Given the description of an element on the screen output the (x, y) to click on. 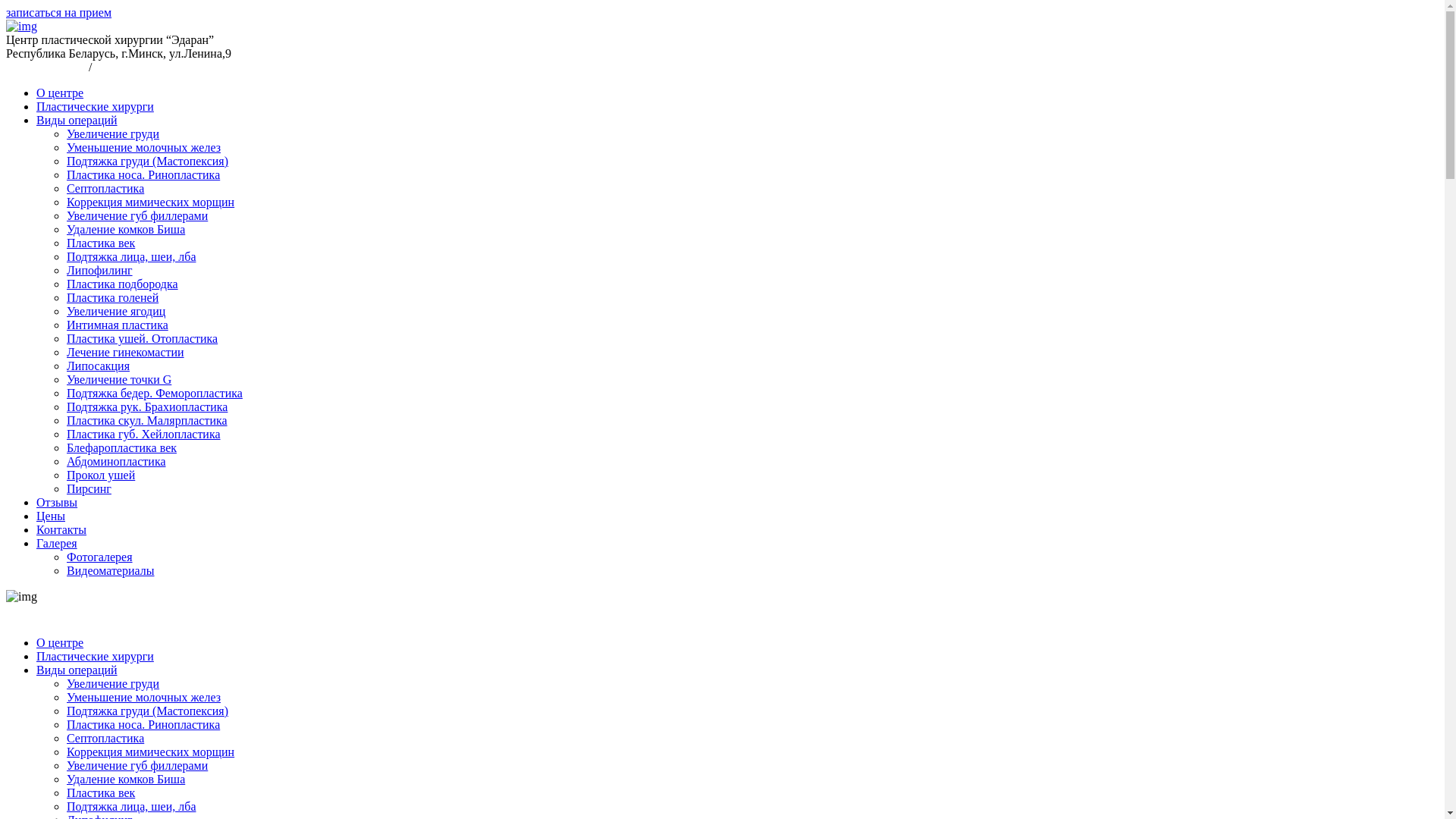
+375296292101 Element type: text (134, 66)
+375172270227 Element type: text (45, 66)
